Given the description of an element on the screen output the (x, y) to click on. 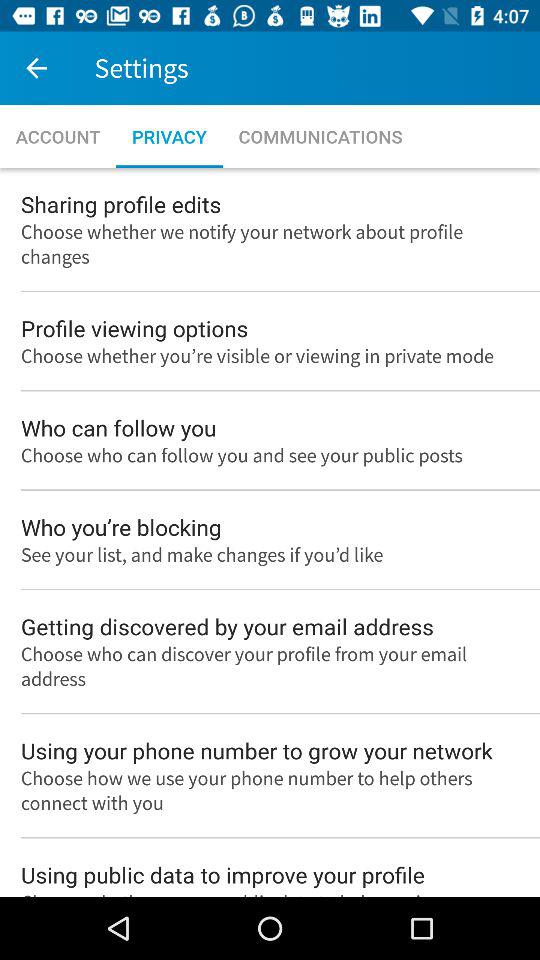
open the item to the left of settings item (36, 68)
